Given the description of an element on the screen output the (x, y) to click on. 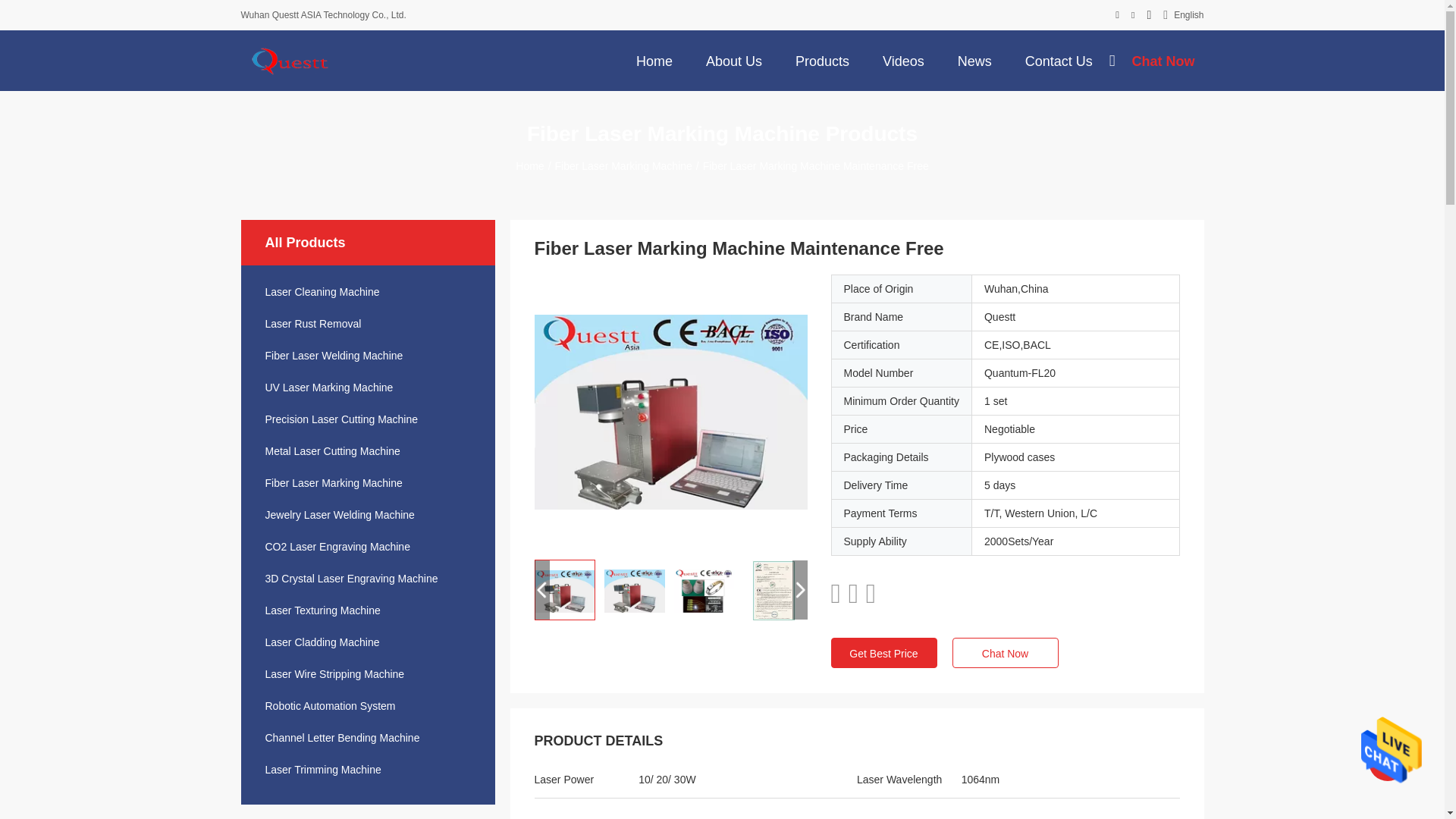
Products (822, 60)
Home (654, 60)
About Us (734, 60)
